Given the description of an element on the screen output the (x, y) to click on. 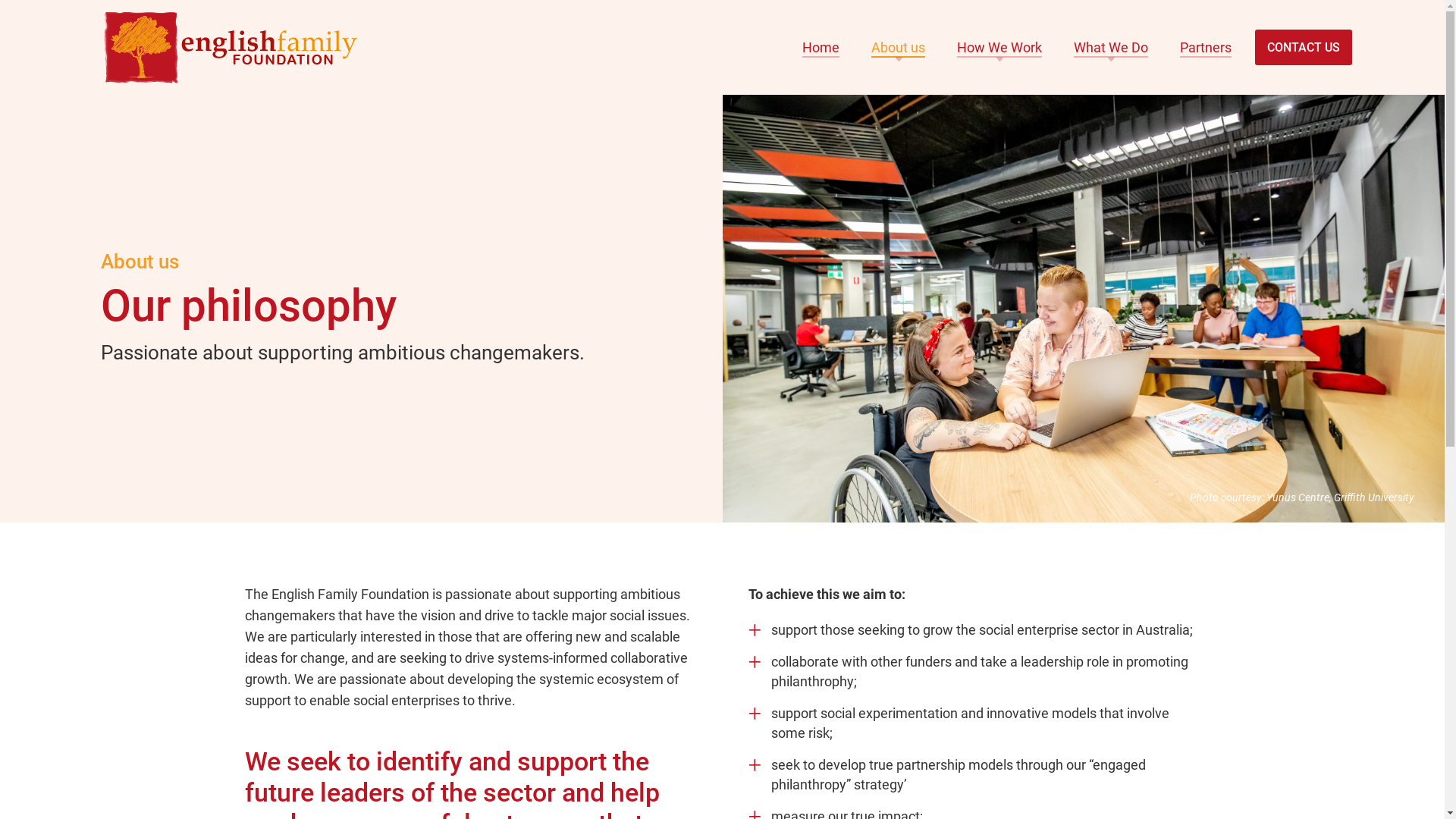
Home Element type: text (820, 46)
Photo courtesy: Yunus Centre, Griffith University Element type: hover (1082, 308)
What We Do Element type: text (1110, 46)
About us Element type: text (897, 46)
How We Work Element type: text (999, 46)
CONTACT US Element type: text (1302, 47)
Partners Element type: text (1205, 46)
